Given the description of an element on the screen output the (x, y) to click on. 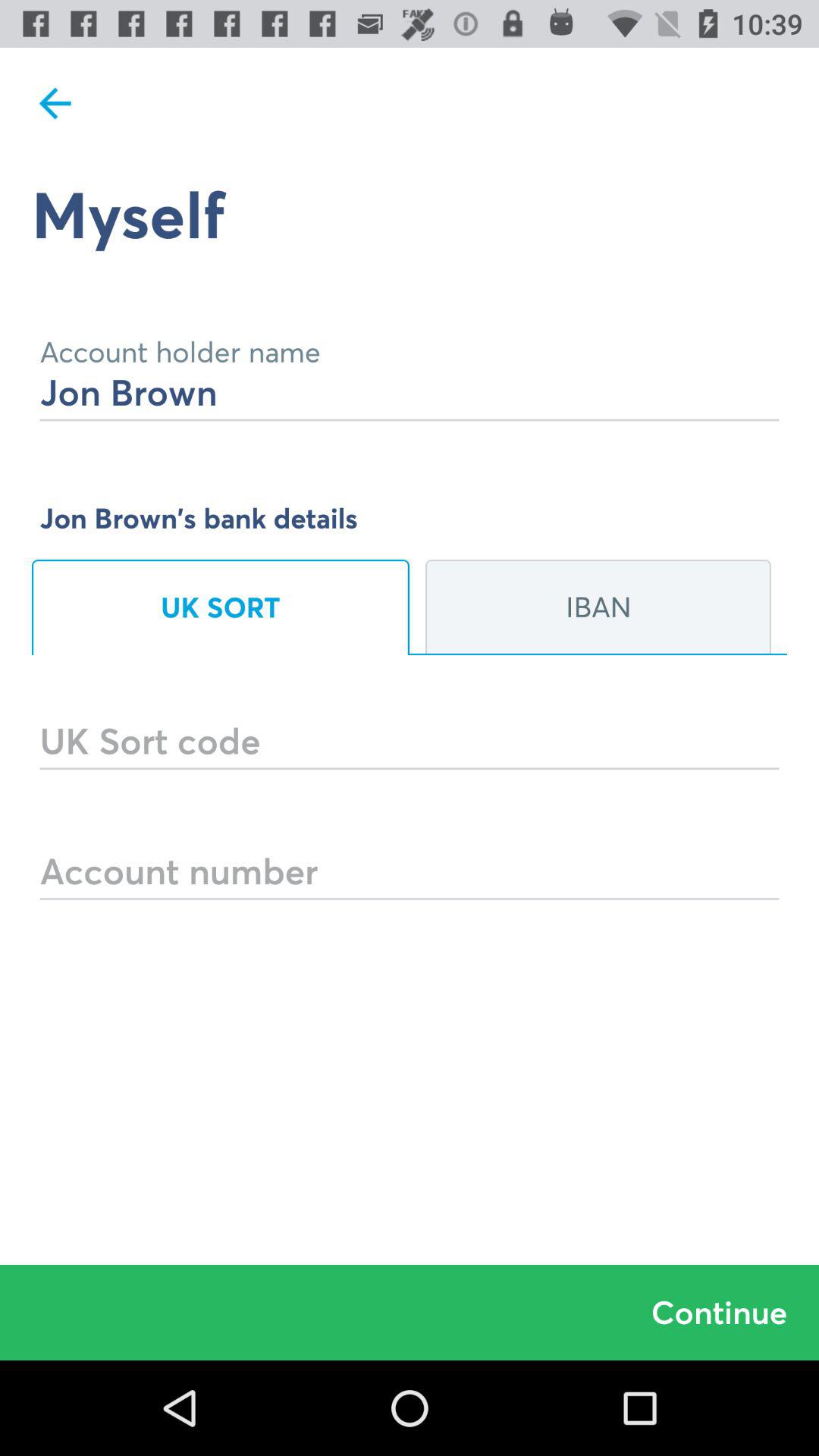
click the icon on the right (598, 607)
